Given the description of an element on the screen output the (x, y) to click on. 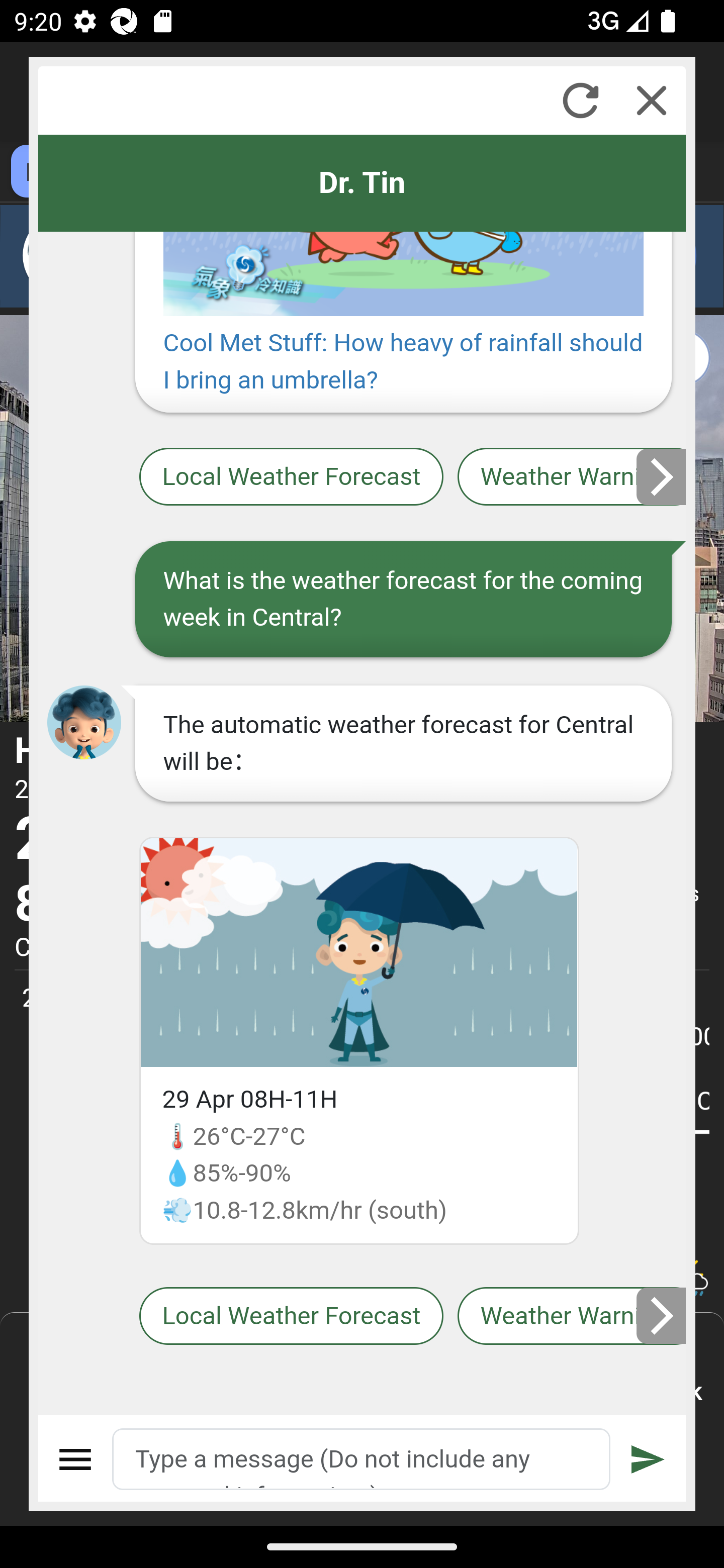
Refresh (580, 100)
Close (651, 100)
Local Weather Forecast (291, 478)
Weather Warnings (571, 478)
Next slide (661, 476)
Local Weather Forecast (291, 1315)
Weather Warnings (571, 1315)
Next slide (661, 1316)
Menu (75, 1458)
Submit (648, 1458)
